Given the description of an element on the screen output the (x, y) to click on. 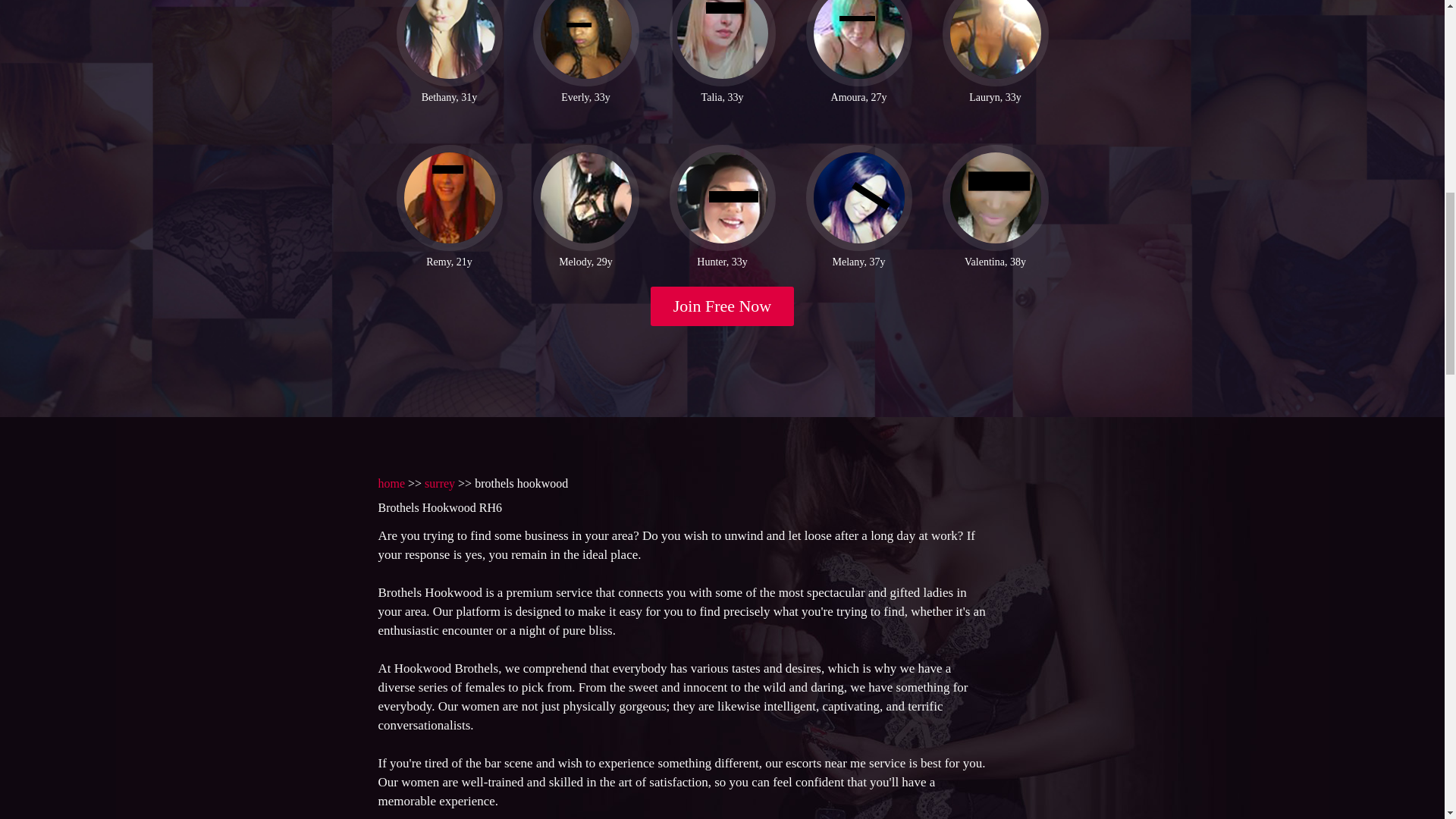
home (390, 482)
surrey (439, 482)
Join Free Now (722, 305)
Join (722, 305)
